Given the description of an element on the screen output the (x, y) to click on. 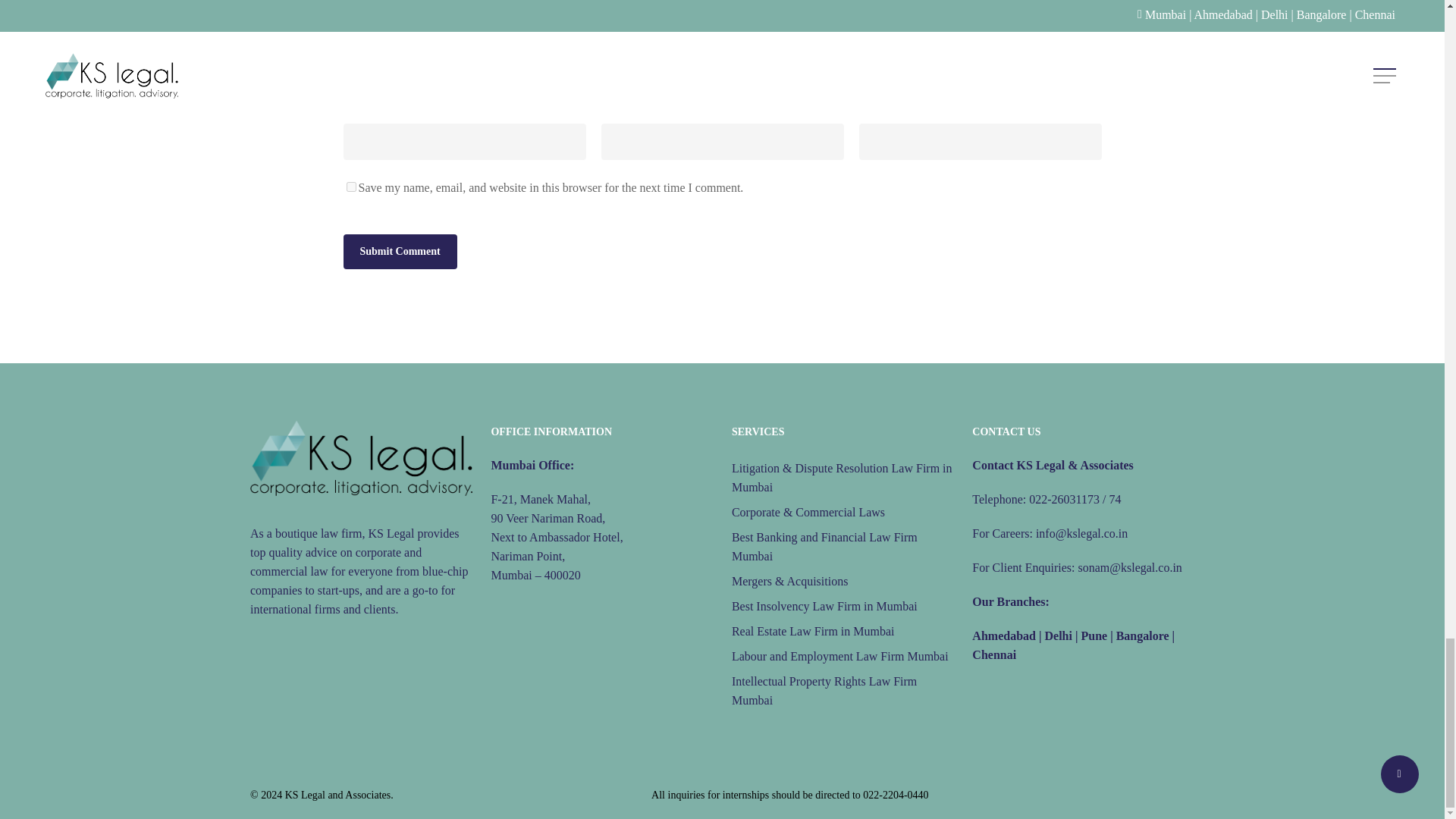
yes (350, 186)
Submit Comment (399, 251)
Submit Comment (399, 251)
